Given the description of an element on the screen output the (x, y) to click on. 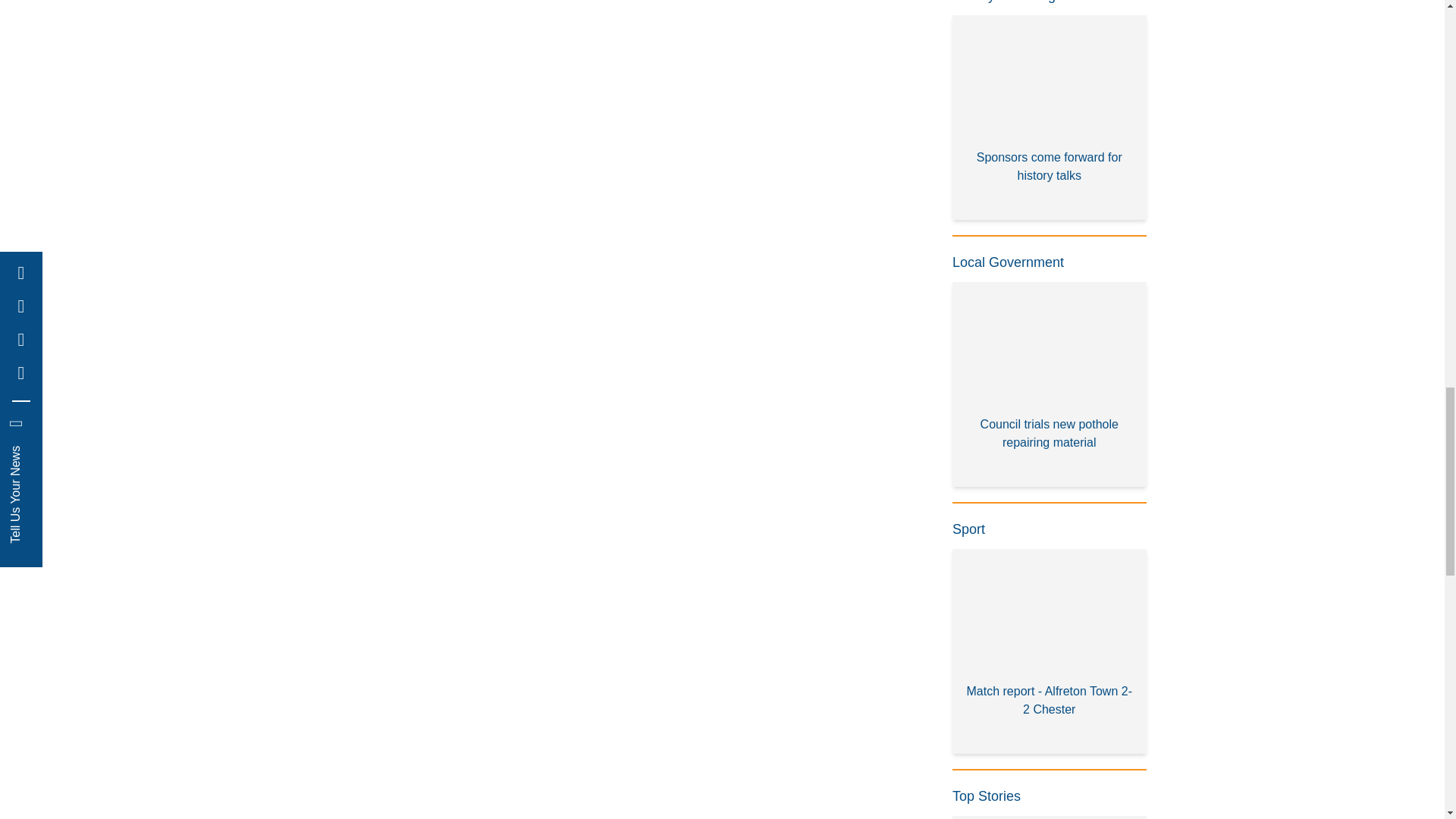
Sponsors come forward for history talks (1049, 117)
Volunteer clean up at community centre (1049, 817)
Council trials new pothole repairing material (1049, 383)
Match report - Alfreton Town 2-2 Chester (1049, 650)
